Given the description of an element on the screen output the (x, y) to click on. 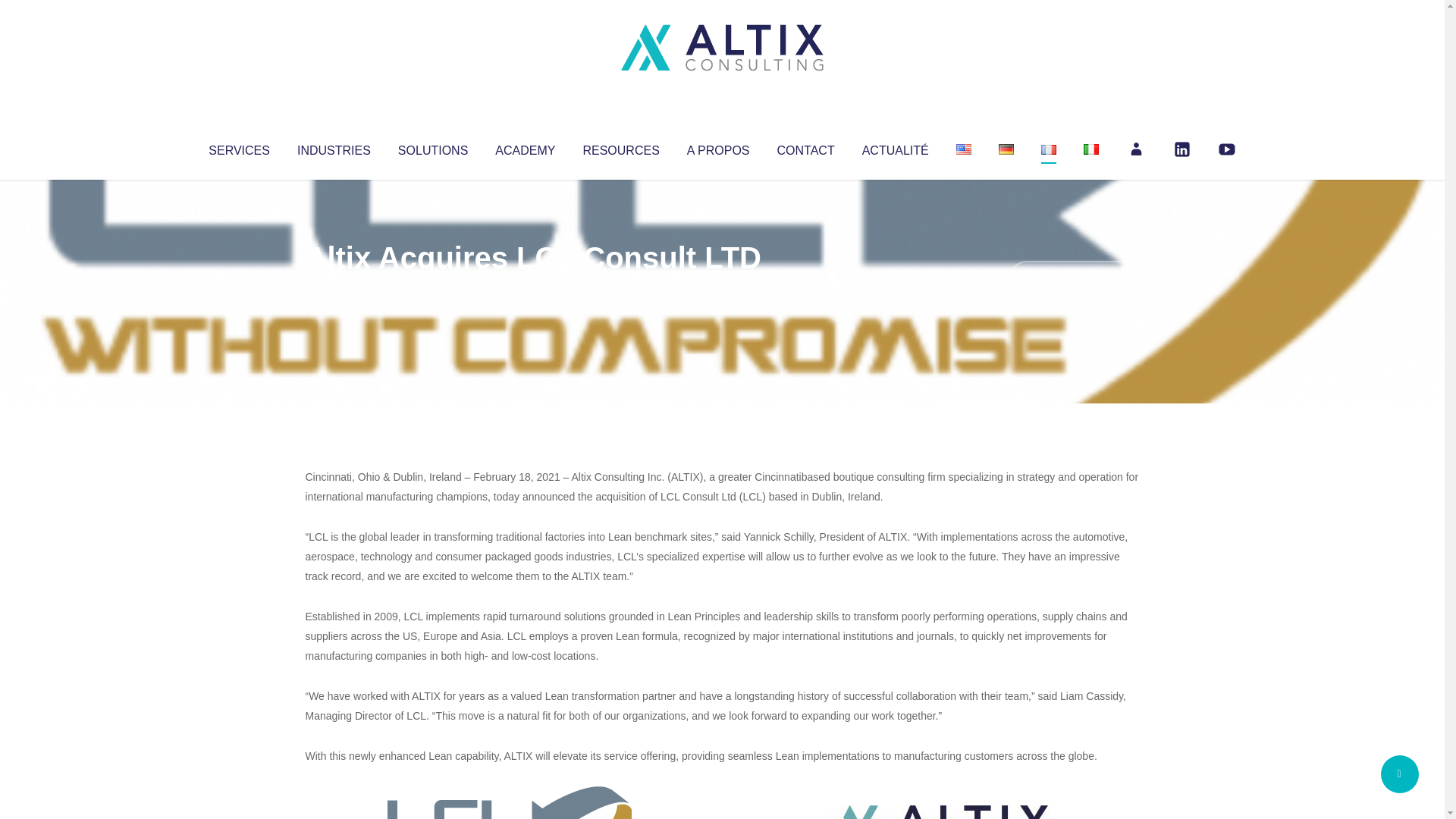
RESOURCES (620, 146)
ACADEMY (524, 146)
No Comments (1073, 278)
A PROPOS (718, 146)
INDUSTRIES (334, 146)
Articles par Altix (333, 287)
SOLUTIONS (432, 146)
SERVICES (238, 146)
Altix (333, 287)
Uncategorized (530, 287)
